Given the description of an element on the screen output the (x, y) to click on. 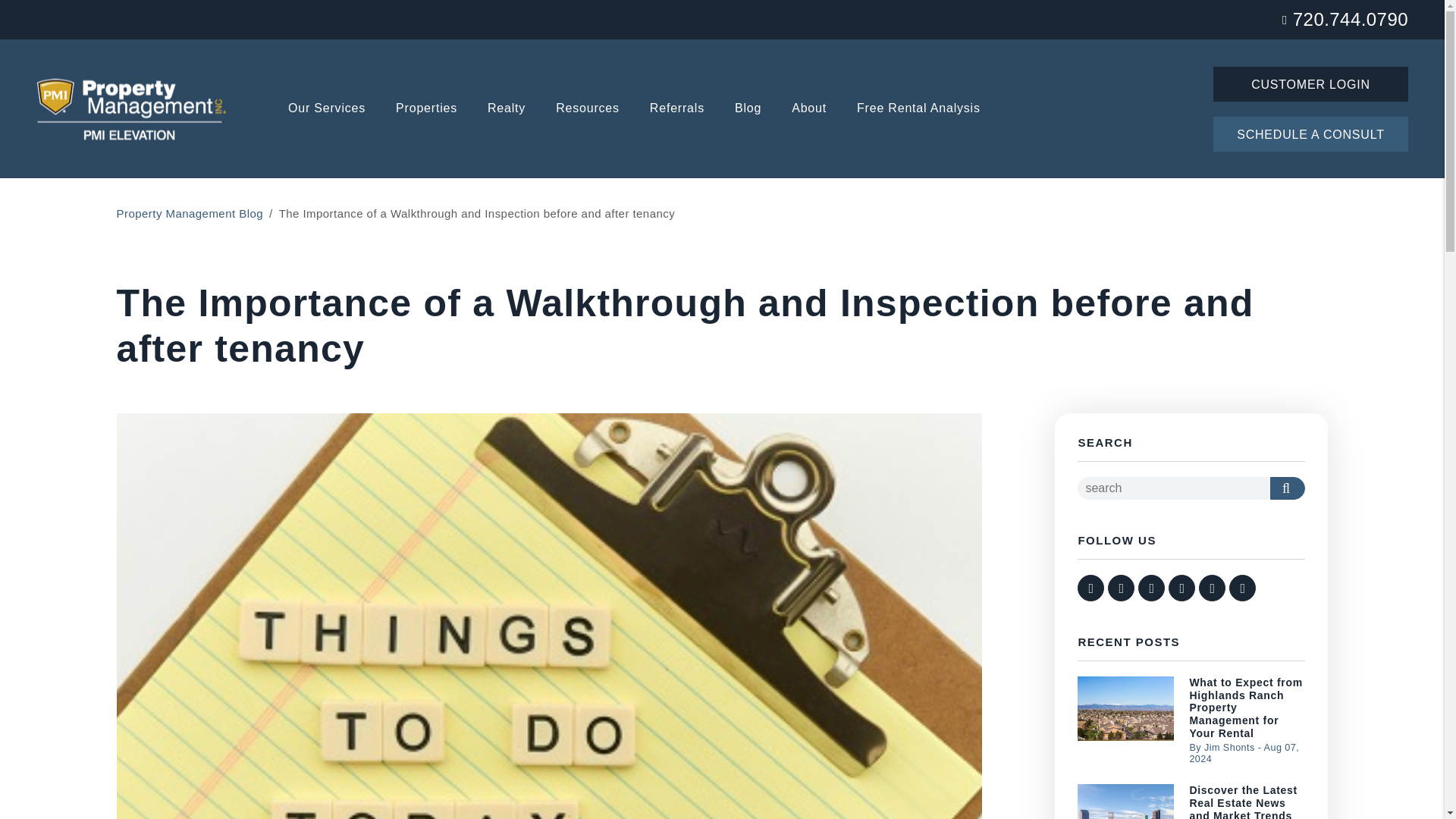
Our Services (326, 108)
720.744.0790 (1349, 19)
Realty (506, 108)
SCHEDULE A CONSULT (1309, 134)
Properties (426, 108)
CUSTOMER LOGIN (1309, 83)
Resources (588, 108)
